Given the description of an element on the screen output the (x, y) to click on. 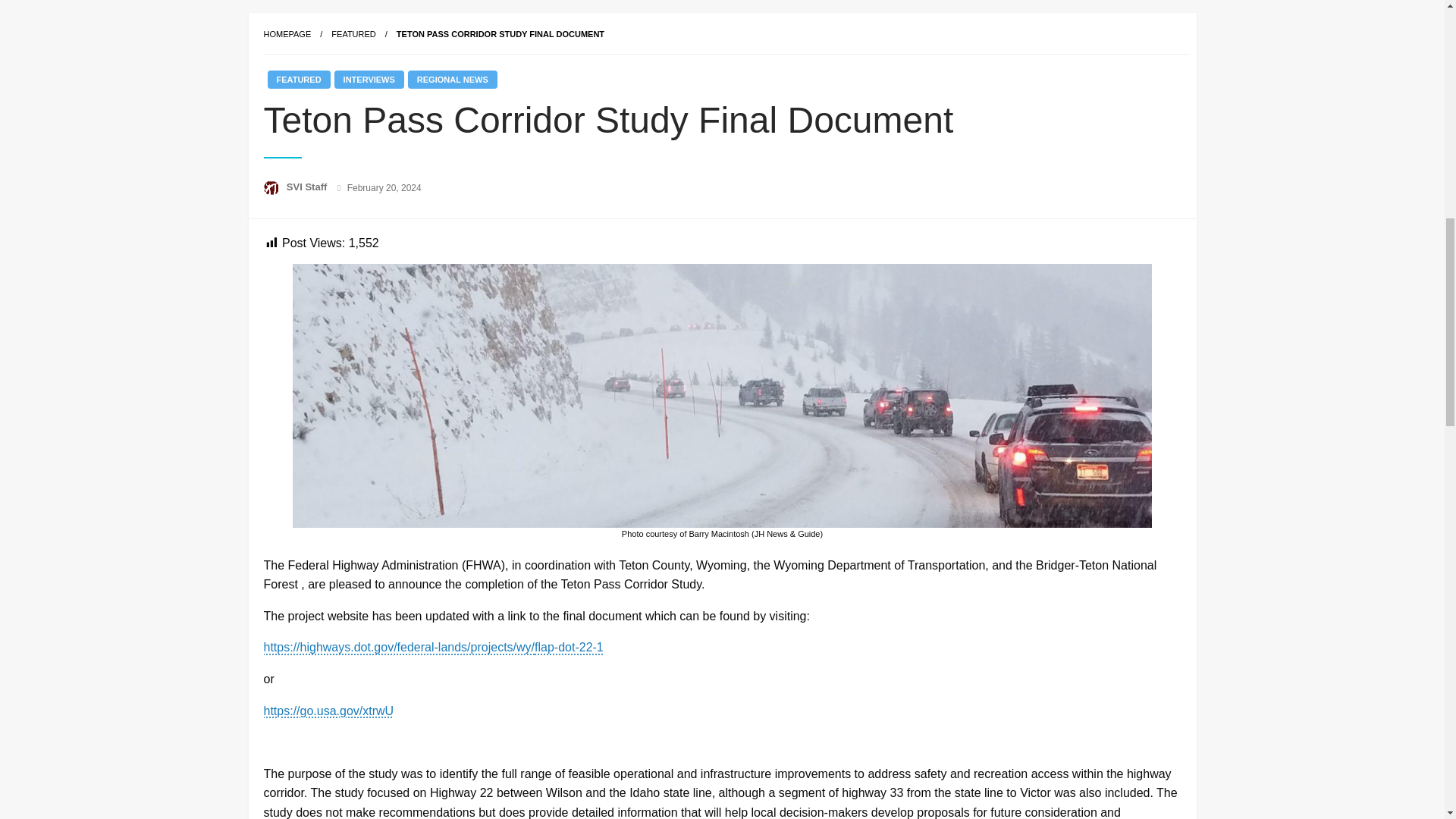
Featured (353, 33)
SVI Staff (308, 186)
Homepage (287, 33)
